Given the description of an element on the screen output the (x, y) to click on. 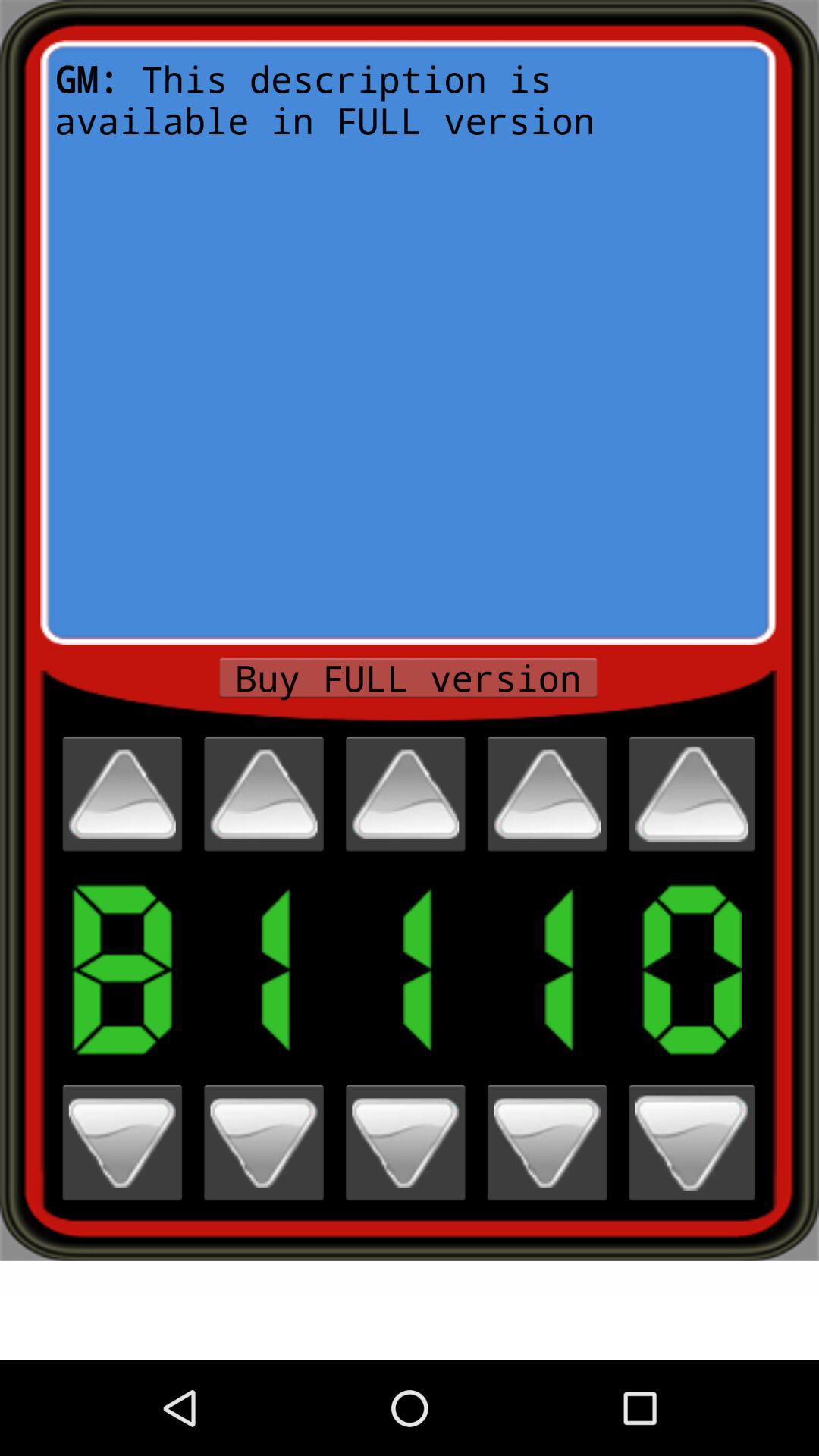
go to next number (691, 1142)
